Given the description of an element on the screen output the (x, y) to click on. 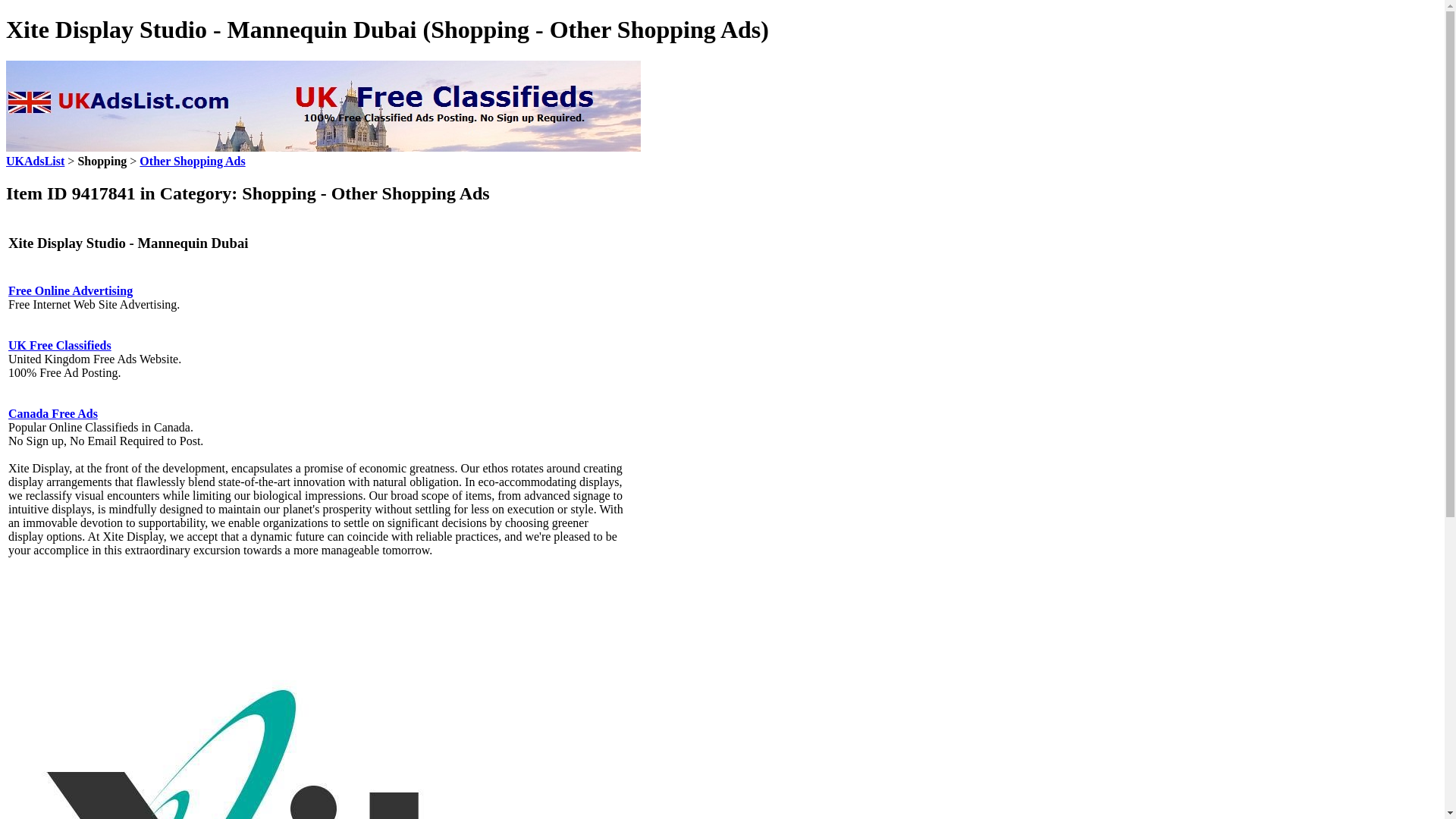
Other Shopping Ads (191, 160)
UKAdsList (34, 160)
Go Back to UKAdsList.com Home Page (34, 160)
UK Free Classifieds (60, 345)
Canada Free Ads (52, 413)
Free Online Advertising (70, 290)
